Given the description of an element on the screen output the (x, y) to click on. 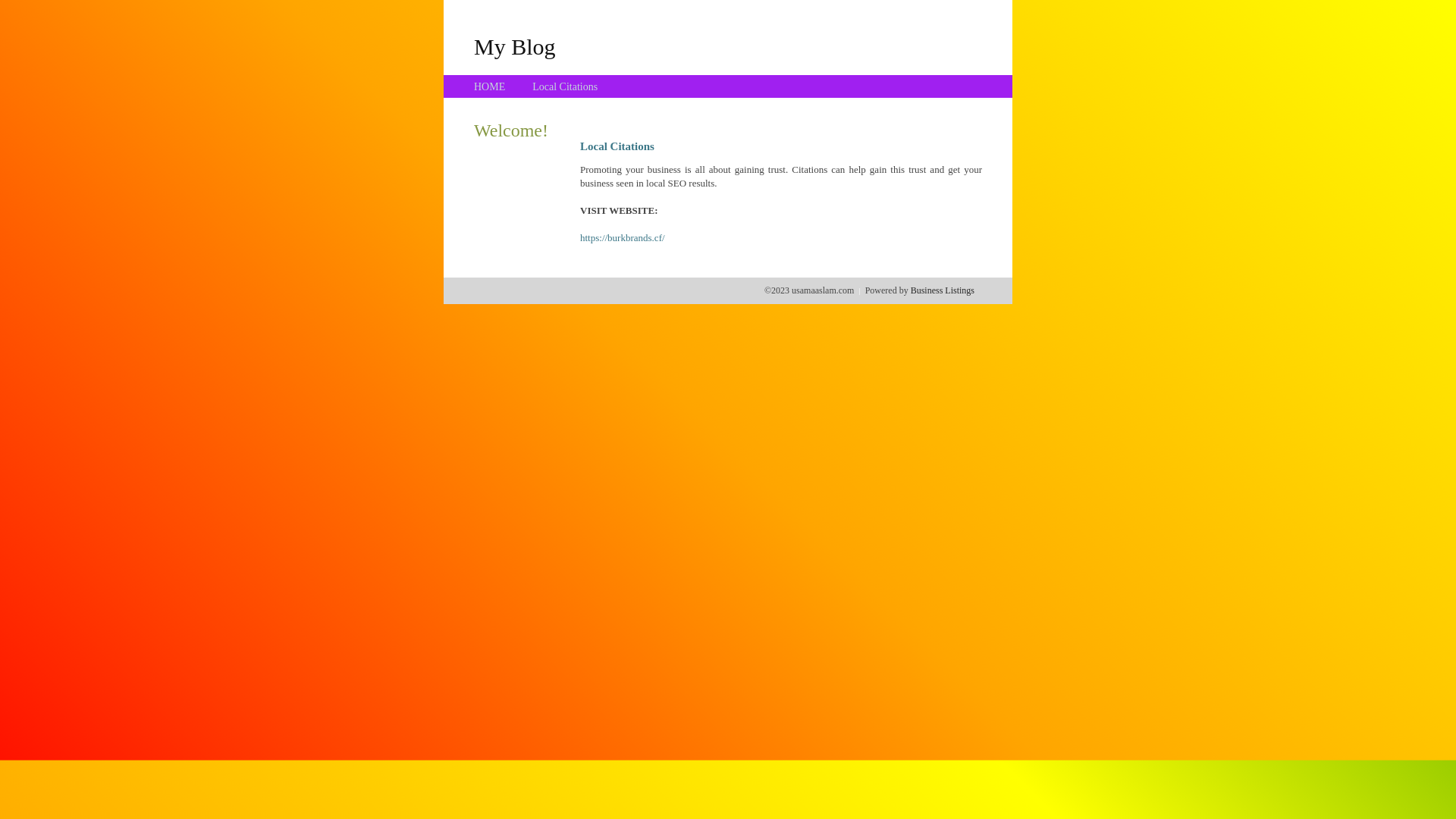
My Blog Element type: text (514, 46)
Business Listings Element type: text (942, 290)
https://burkbrands.cf/ Element type: text (622, 237)
HOME Element type: text (489, 86)
Local Citations Element type: text (564, 86)
